Given the description of an element on the screen output the (x, y) to click on. 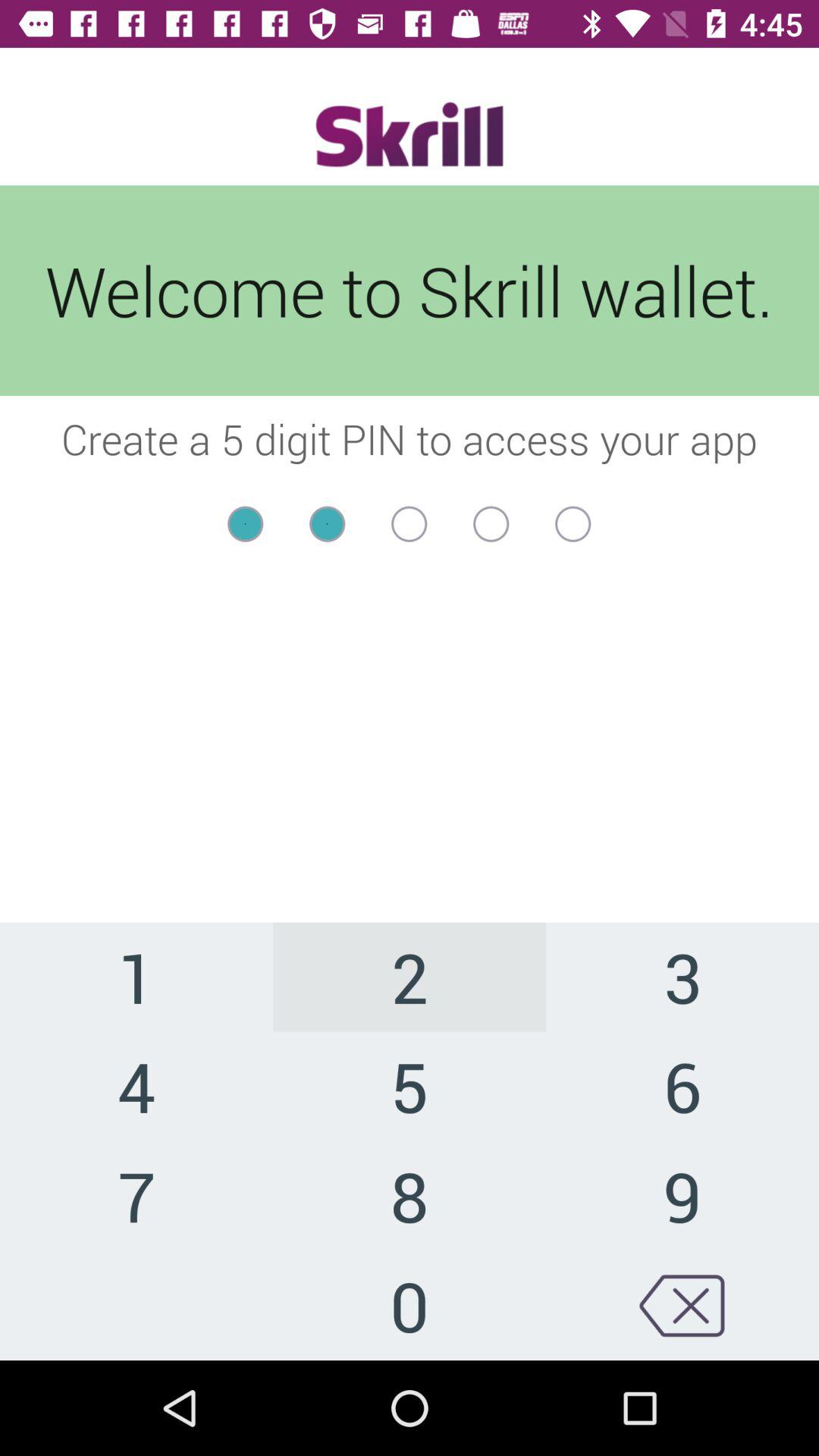
click backspace (682, 1305)
